Given the description of an element on the screen output the (x, y) to click on. 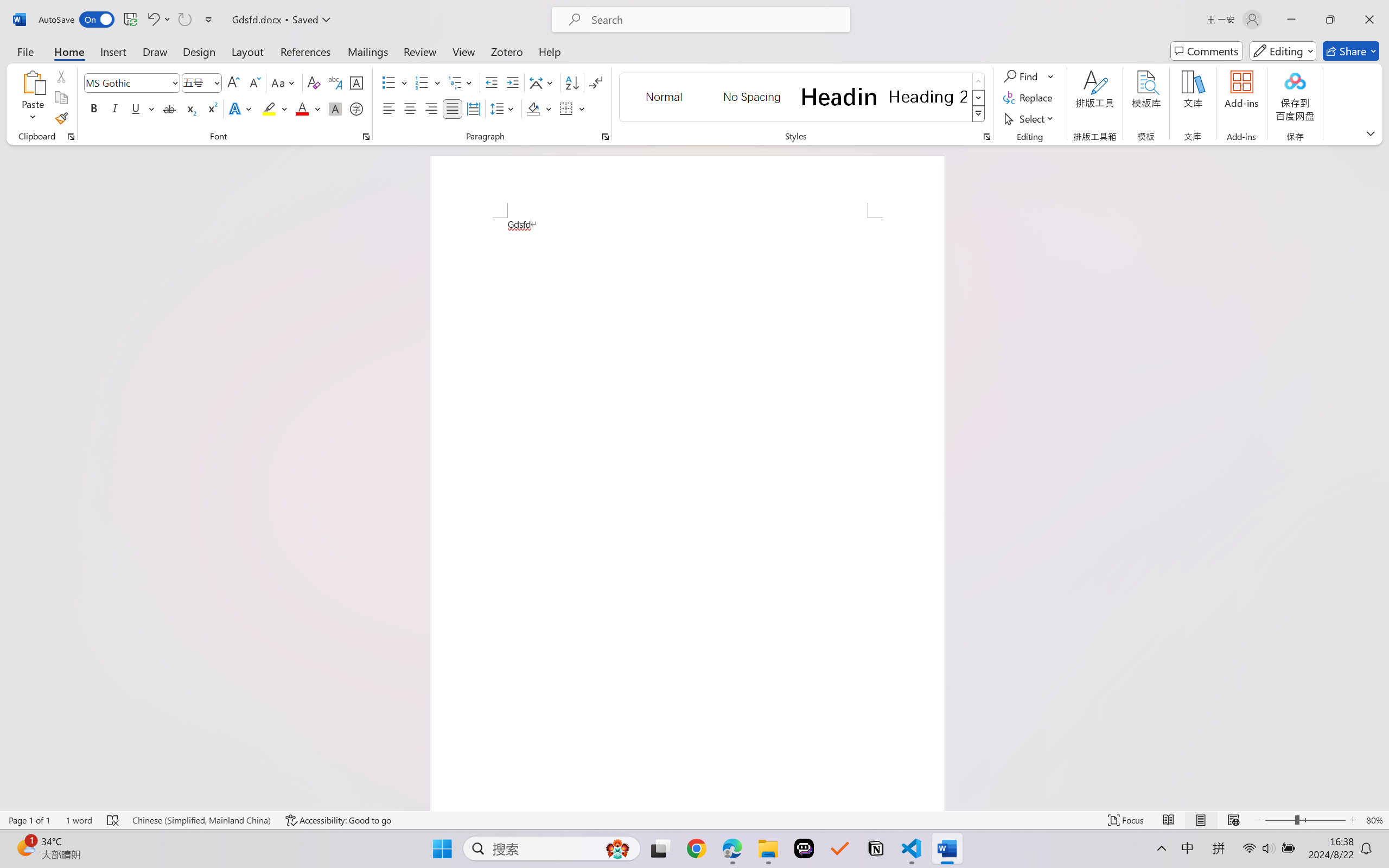
Language Chinese (Simplified, Mainland China) (201, 819)
Undo Font Formatting (152, 19)
Class: NetUIScrollBar (1382, 477)
